Given the description of an element on the screen output the (x, y) to click on. 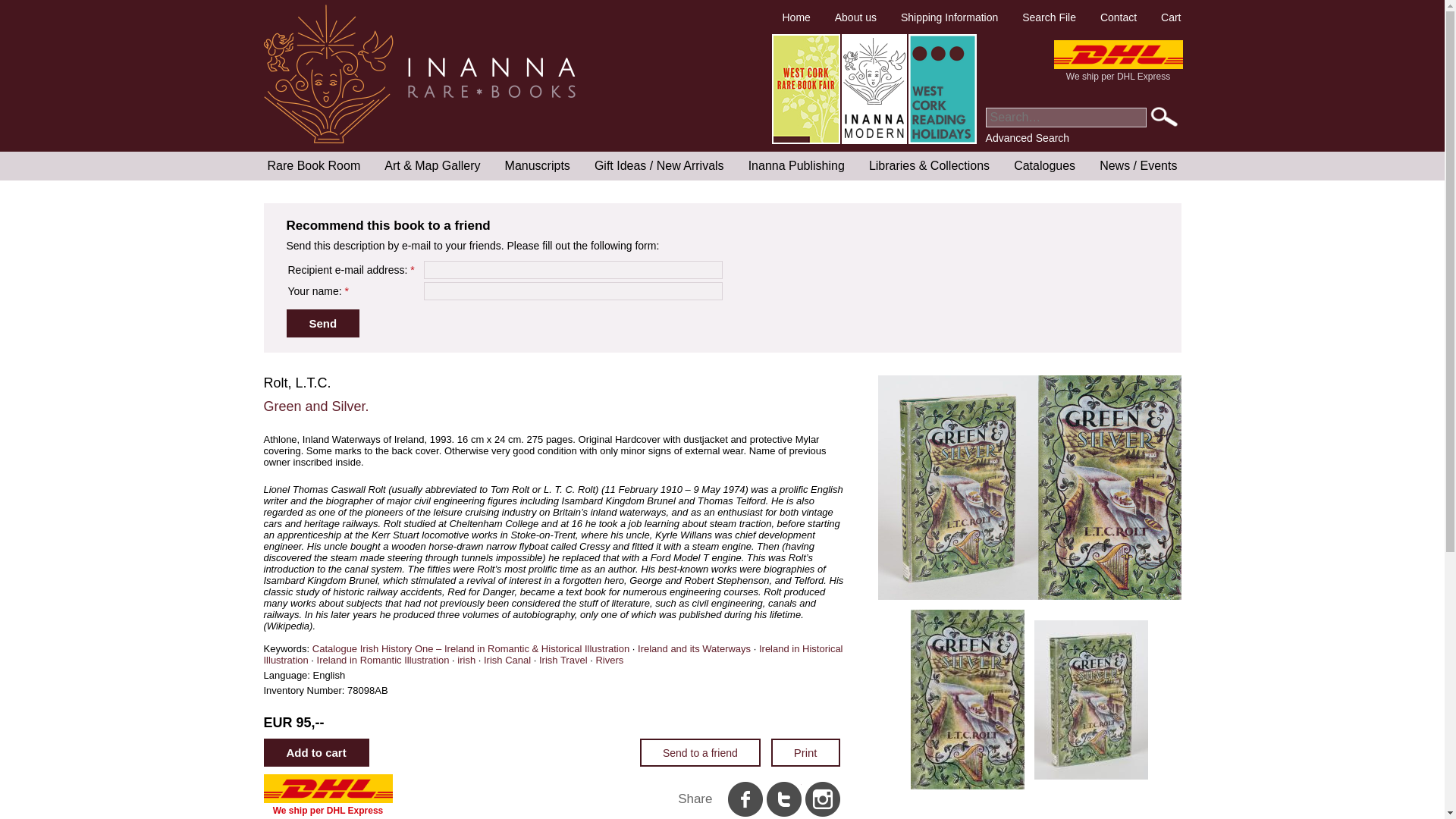
Rolt, Green and Silver. (967, 698)
Shipping Information (949, 17)
Print (805, 752)
Send (322, 323)
Add to cart (316, 752)
Start (1165, 116)
Search File (1048, 17)
Cart (1170, 17)
About us (855, 17)
Rolt, Green and Silver. (1028, 595)
Contact (1118, 17)
Home (795, 17)
Rolt, Green and Silver. (1090, 698)
